Given the description of an element on the screen output the (x, y) to click on. 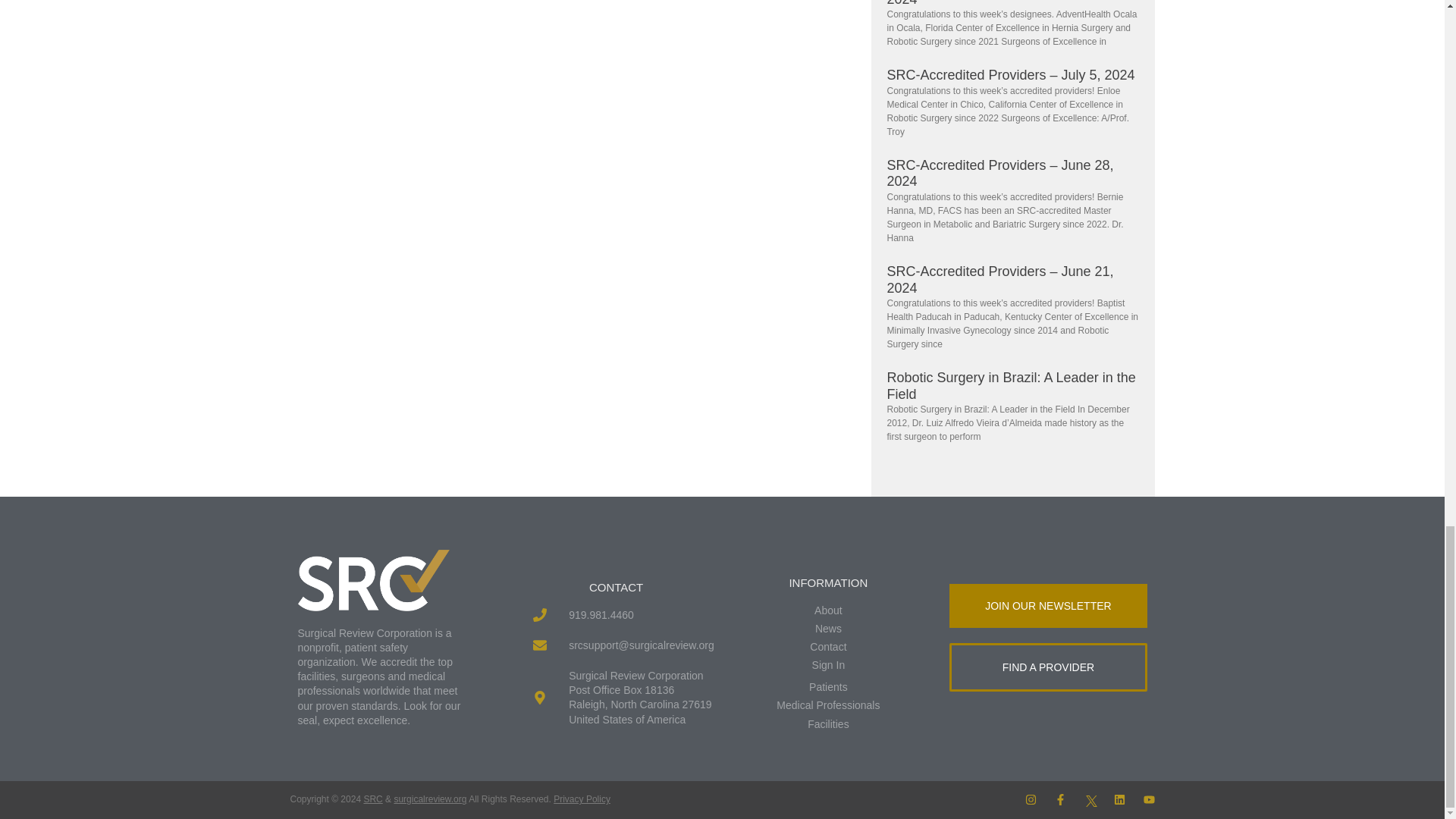
Facebook - Surgical Review Corporation (1059, 799)
Instagram - Surgical Review Corporation (1030, 799)
Youtube - Surgical Review Corporation (1148, 799)
Twitter - Surgical Review Corporation (1090, 799)
Linkedin - Surgical Review Corporation (1118, 799)
